Given the description of an element on the screen output the (x, y) to click on. 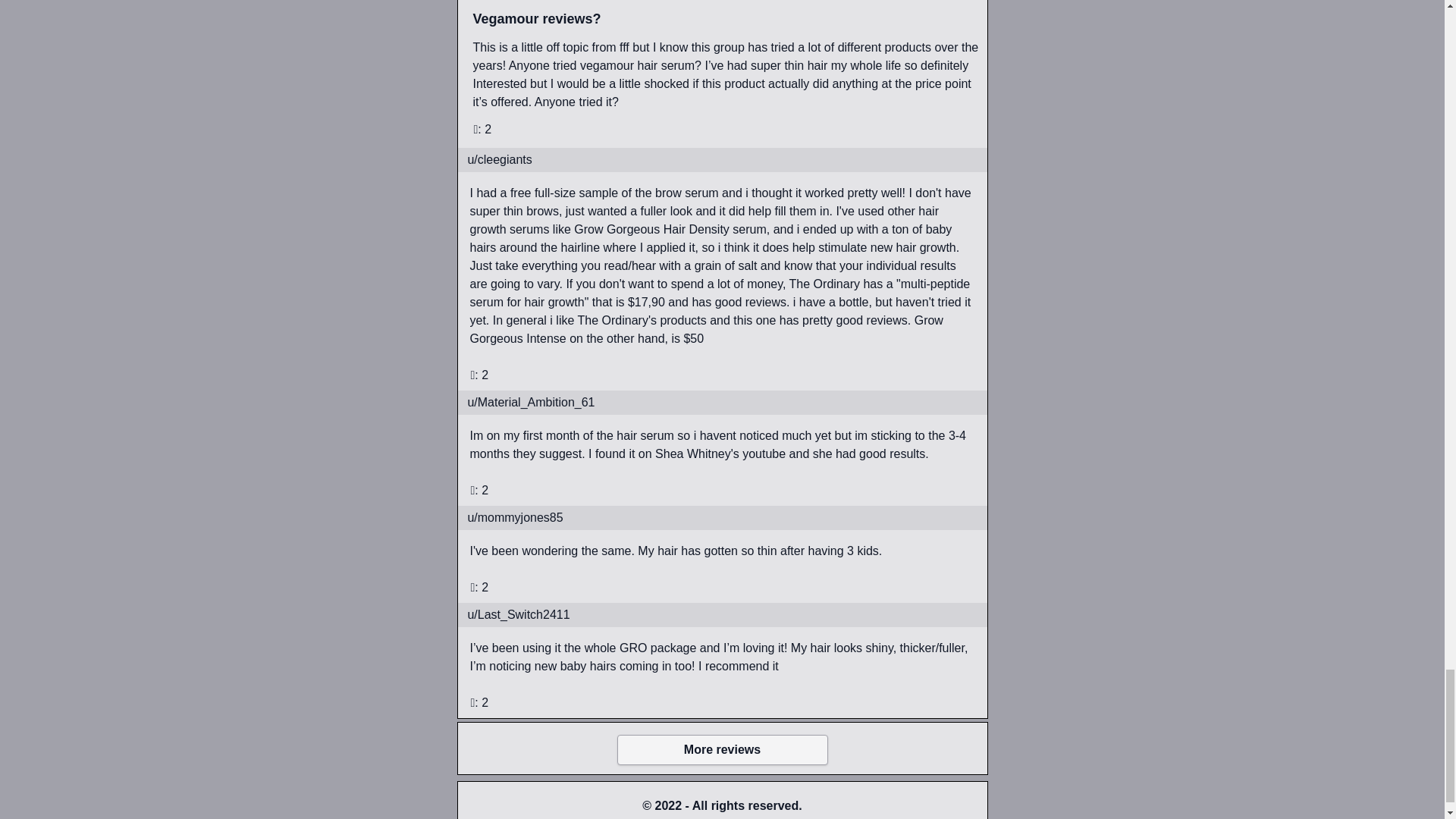
More reviews (722, 749)
